Given the description of an element on the screen output the (x, y) to click on. 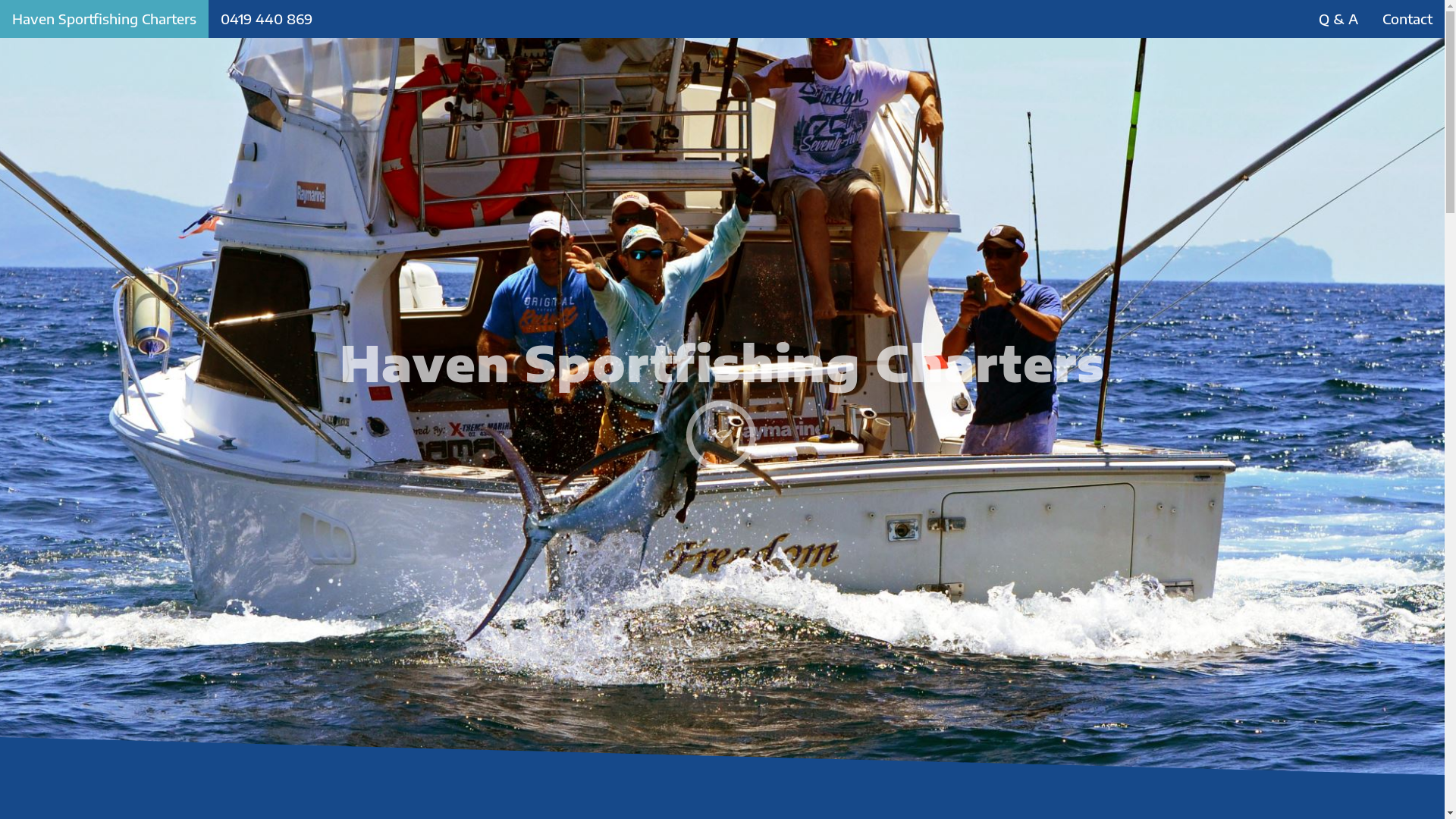
0419 440 869 Element type: text (266, 18)
Haven Sportfishing Charters Element type: text (104, 18)
Contact Element type: text (1407, 18)
Q & A Element type: text (1338, 18)
